Given the description of an element on the screen output the (x, y) to click on. 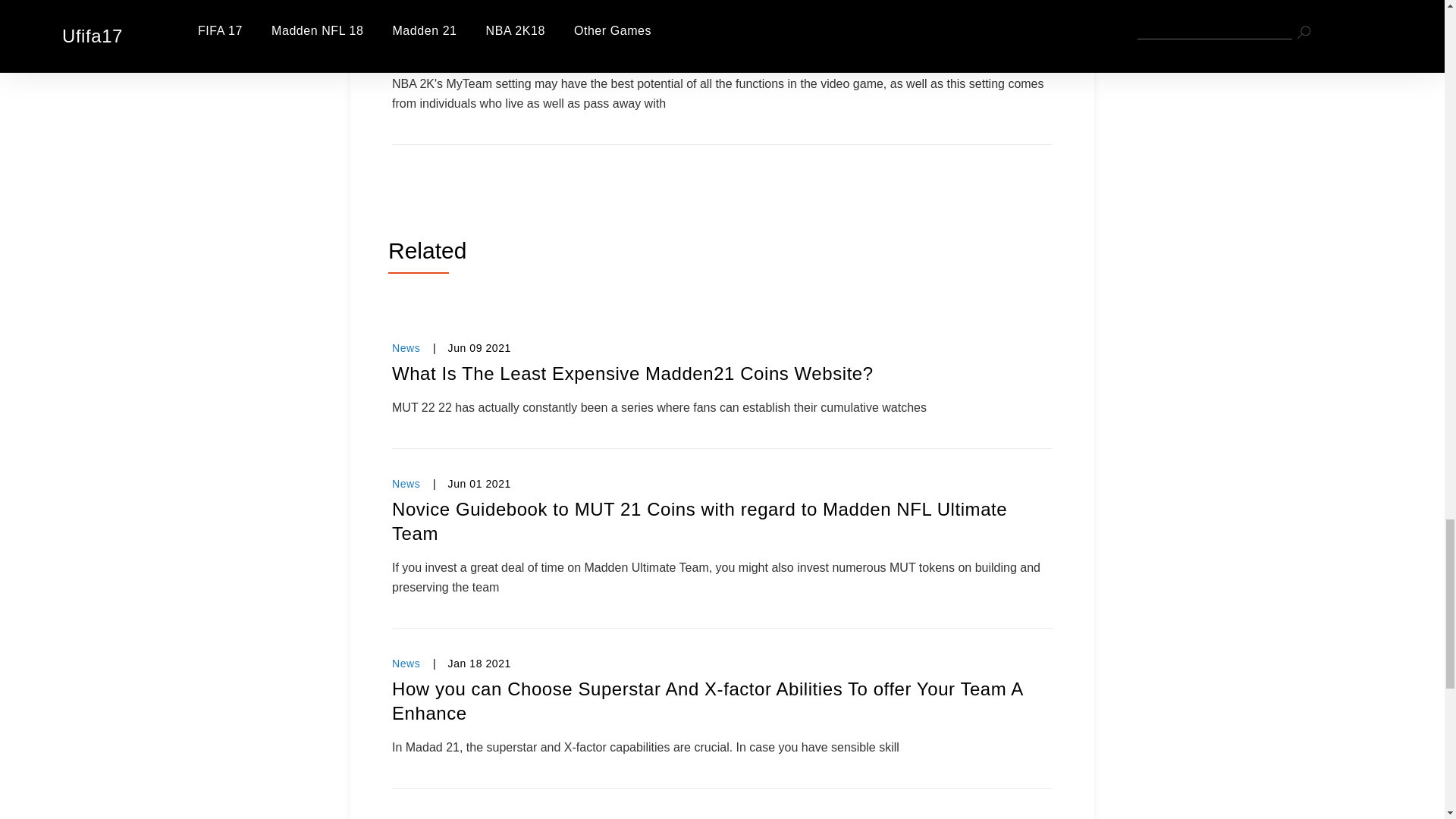
News (405, 663)
News (405, 483)
What Is The Least Expensive Madden21 Coins Website? (721, 373)
News (405, 2)
News (405, 818)
News (405, 347)
